Given the description of an element on the screen output the (x, y) to click on. 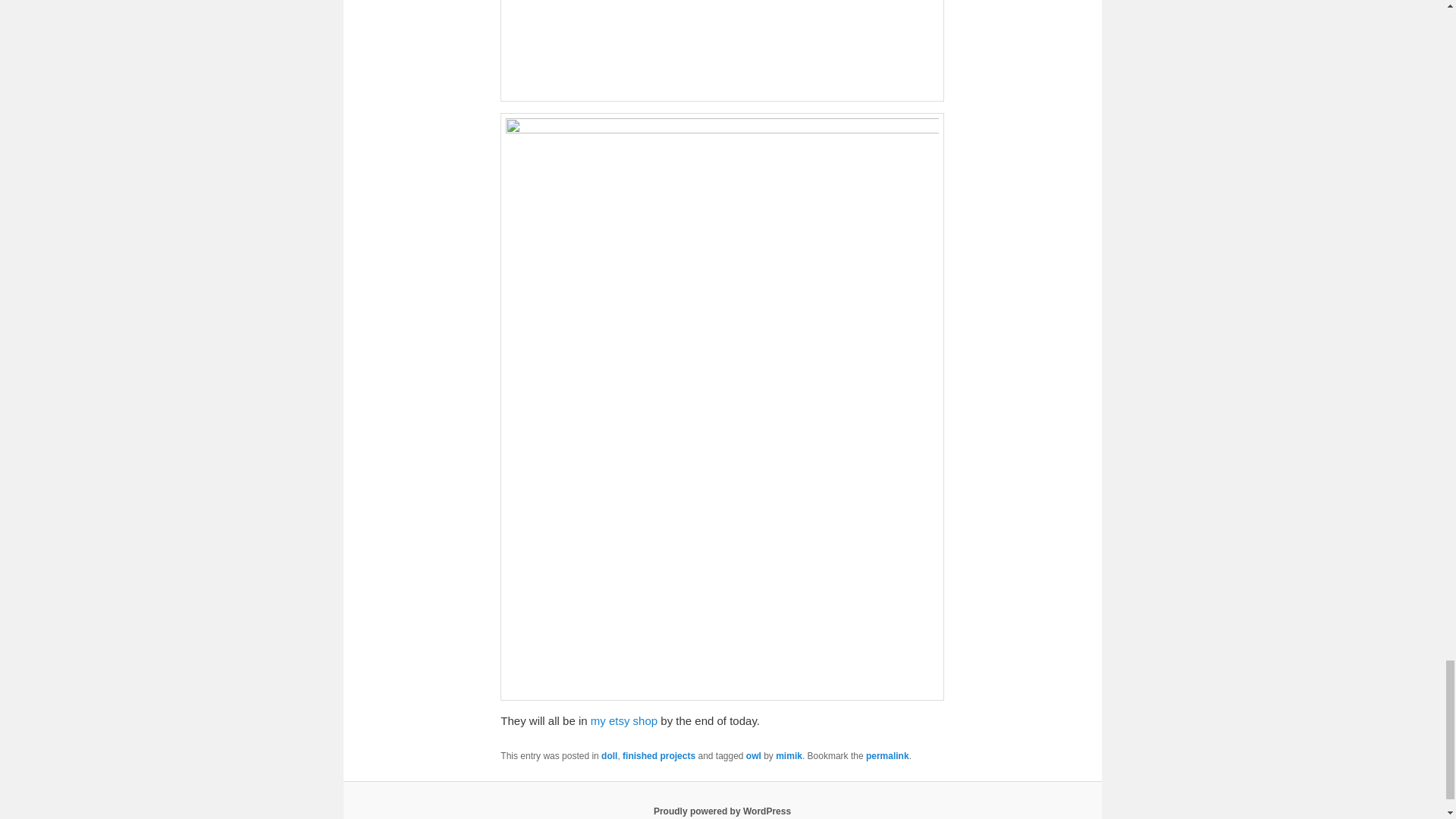
Proudly powered by WordPress (721, 810)
mimik (789, 756)
doll (609, 756)
my etsy shop (624, 720)
Permalink to Black Owl, White Owls (887, 756)
owl (753, 756)
finished projects (659, 756)
permalink (887, 756)
Semantic Personal Publishing Platform (721, 810)
